Given the description of an element on the screen output the (x, y) to click on. 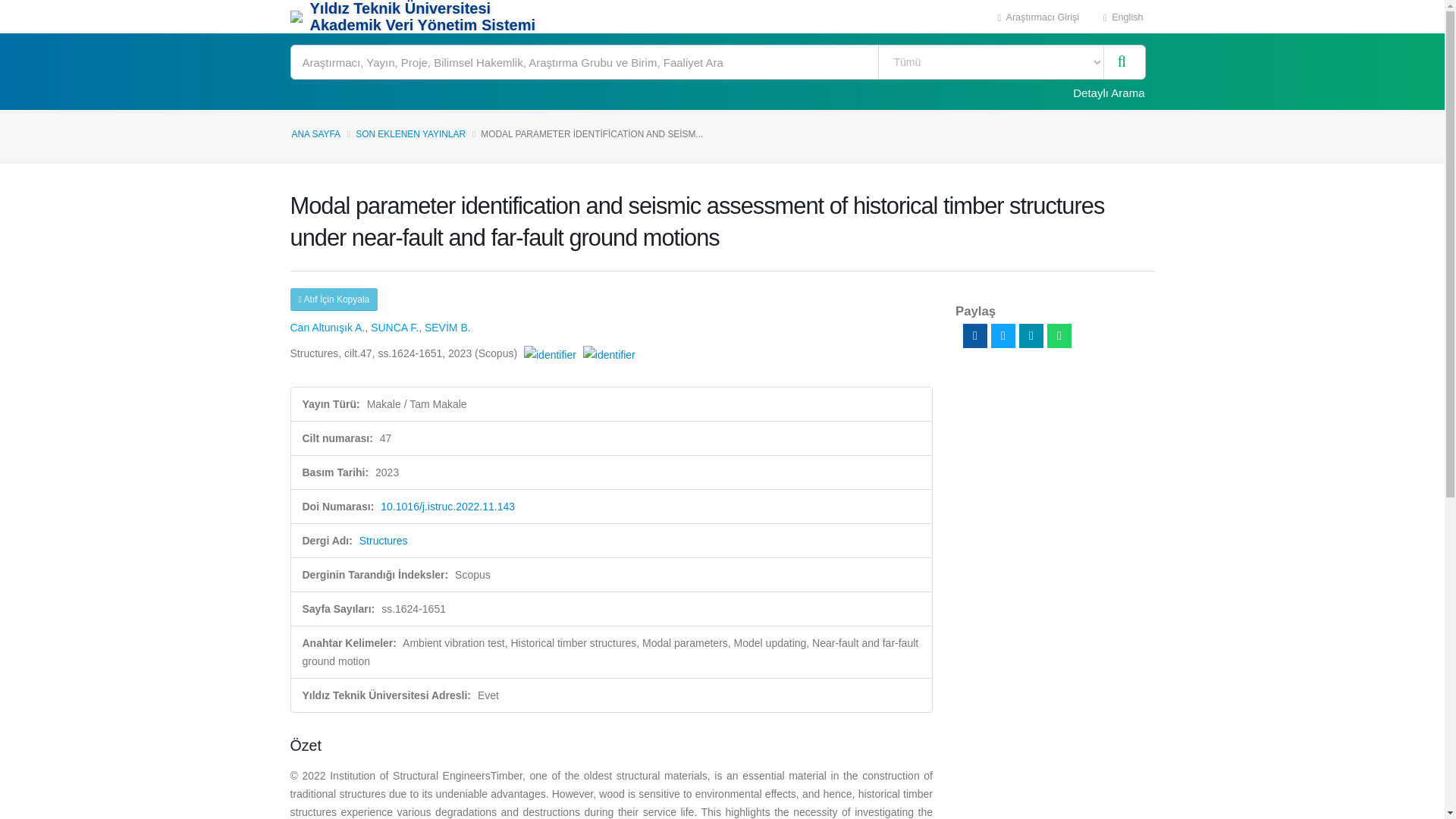
SUNCA F. (395, 327)
SON EKLENEN YAYINLAR (410, 133)
English (1123, 17)
ANA SAYFA (315, 133)
Structures (383, 540)
